Given the description of an element on the screen output the (x, y) to click on. 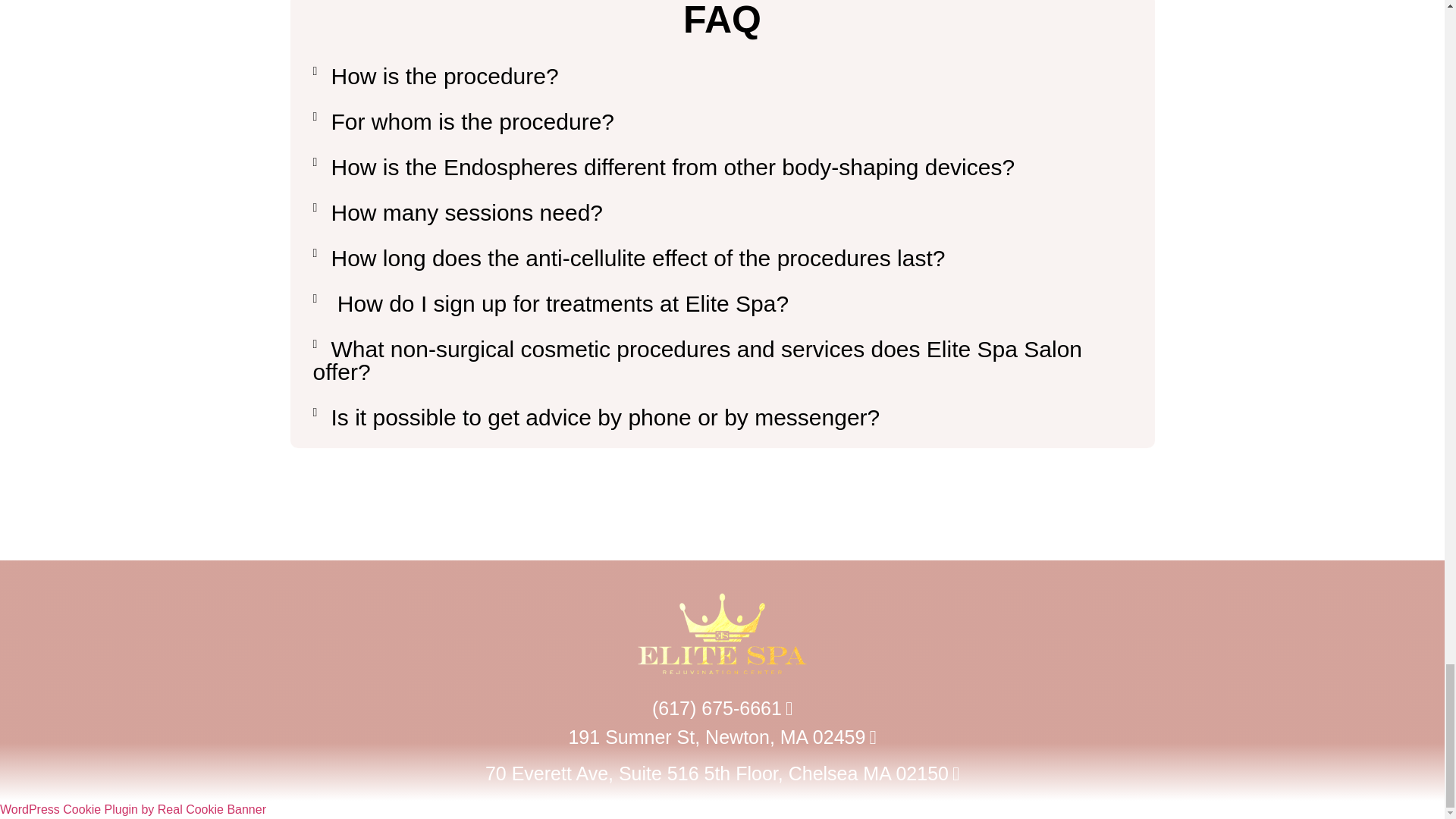
How many sessions need? (466, 212)
70 Everett Ave, Suite 516 5th Floor, Chelsea MA 02150 (721, 773)
Is it possible to get advice by phone or by messenger? (604, 416)
191 Sumner St, Newton, MA 02459 (721, 737)
How is the procedure? (443, 75)
WordPress Cookie Plugin by Real Cookie Banner (133, 809)
 How do I sign up for treatments at Elite Spa? (559, 303)
For whom is the procedure? (472, 121)
